Given the description of an element on the screen output the (x, y) to click on. 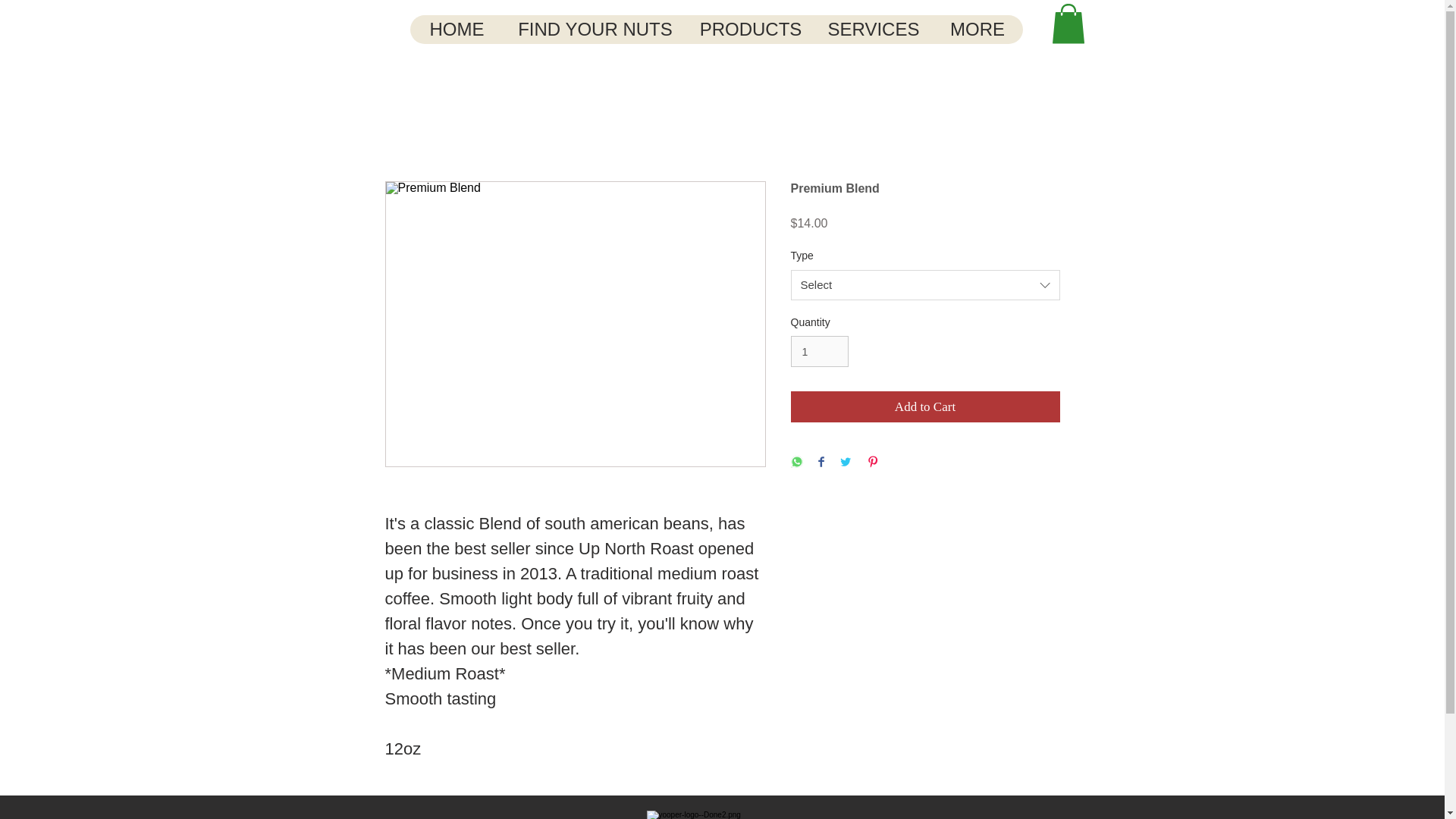
Add to Cart (924, 407)
1 (818, 350)
HOME (456, 29)
FIND YOUR NUTS (594, 29)
PRODUCTS (749, 29)
Select (924, 285)
SERVICES (872, 29)
